Given the description of an element on the screen output the (x, y) to click on. 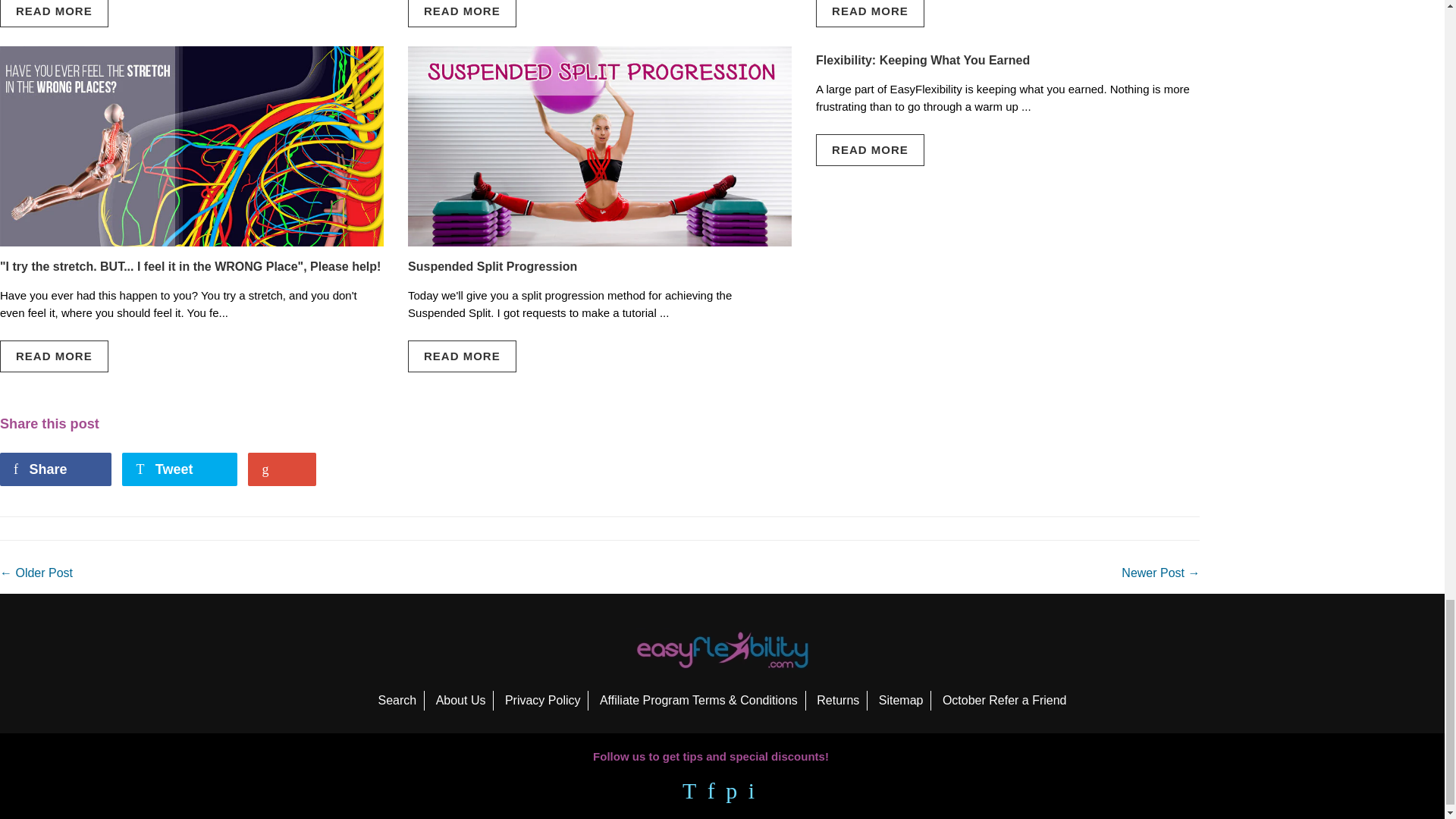
READ MORE (53, 13)
EasyFlexibility on Twitter (688, 793)
READ MORE (461, 13)
